Given the description of an element on the screen output the (x, y) to click on. 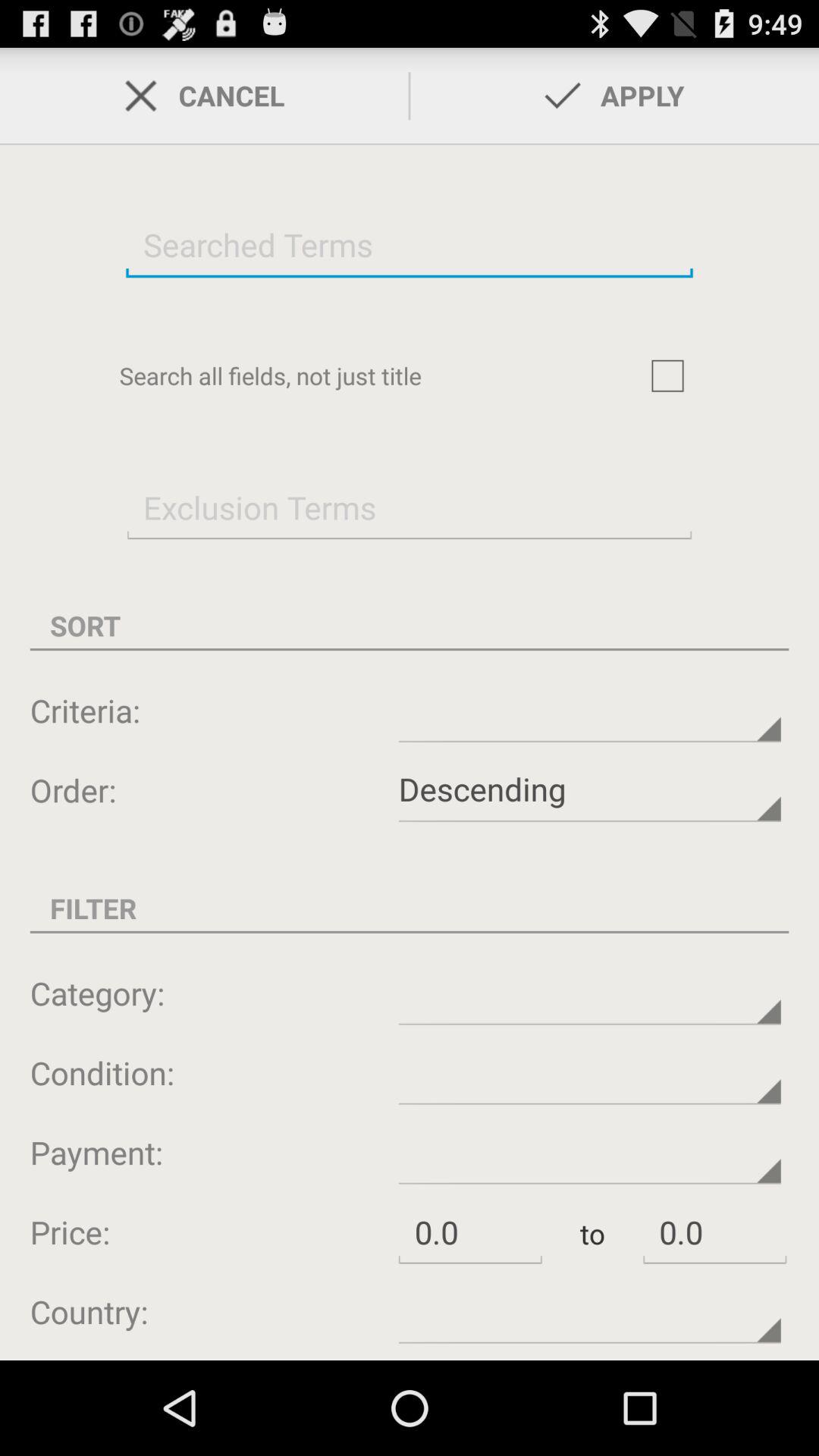
go to search box (667, 375)
